Given the description of an element on the screen output the (x, y) to click on. 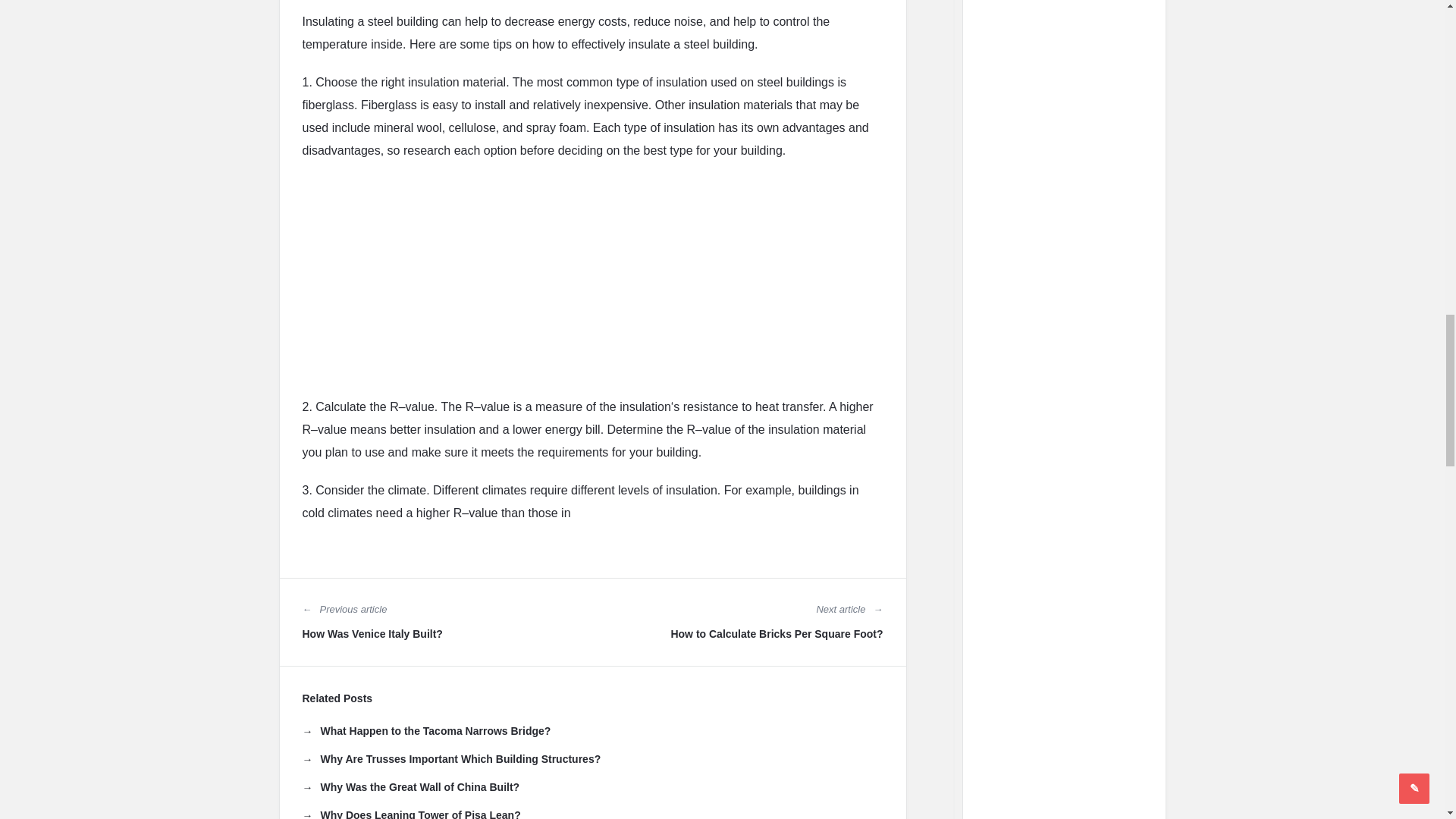
Why Are Trusses Important Which Building Structures? (450, 759)
Why Does Leaning Tower of Pisa Lean? (410, 812)
Why Was the Great Wall of China Built? (410, 786)
What Happen to the Tacoma Narrows Bridge? (425, 730)
How Was Venice Italy Built? (371, 633)
How to Calculate Bricks Per Square Foot? (775, 633)
Why Are Trusses Important Which Building Structures? (450, 759)
What Happen to the Tacoma Narrows Bridge? (425, 730)
Why Does Leaning Tower of Pisa Lean? (410, 812)
Why Was the Great Wall of China Built? (410, 786)
